Given the description of an element on the screen output the (x, y) to click on. 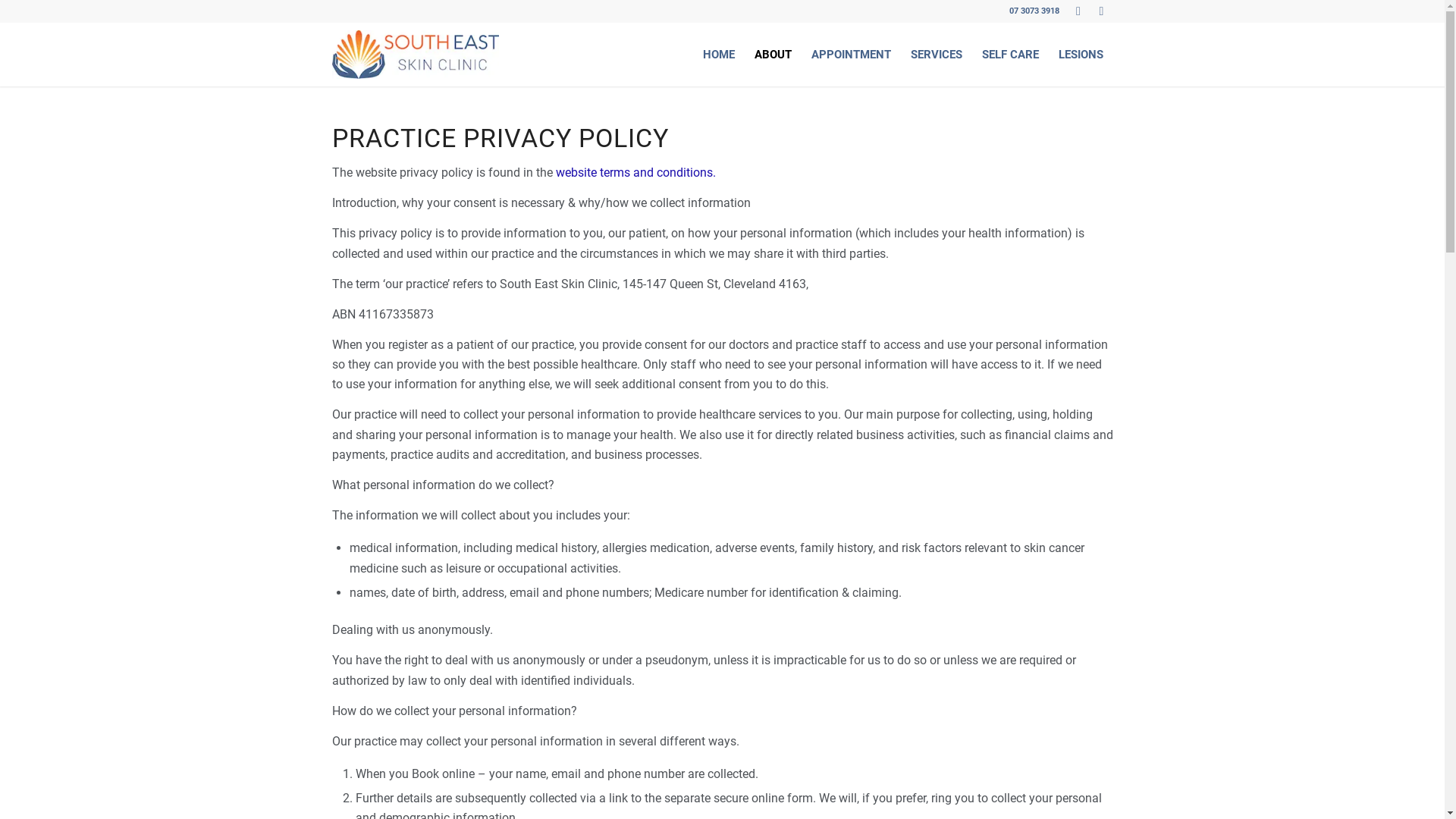
Facebook Element type: hover (1101, 11)
SERVICES Element type: text (936, 54)
SESC-logo Element type: hover (415, 54)
Twitter Element type: hover (1078, 11)
07 3073 3918 Element type: text (1033, 10)
ABOUT Element type: text (772, 54)
APPOINTMENT Element type: text (850, 54)
LESIONS Element type: text (1080, 54)
SELF CARE Element type: text (1010, 54)
HOME Element type: text (718, 54)
website terms and conditions. Element type: text (635, 172)
